Given the description of an element on the screen output the (x, y) to click on. 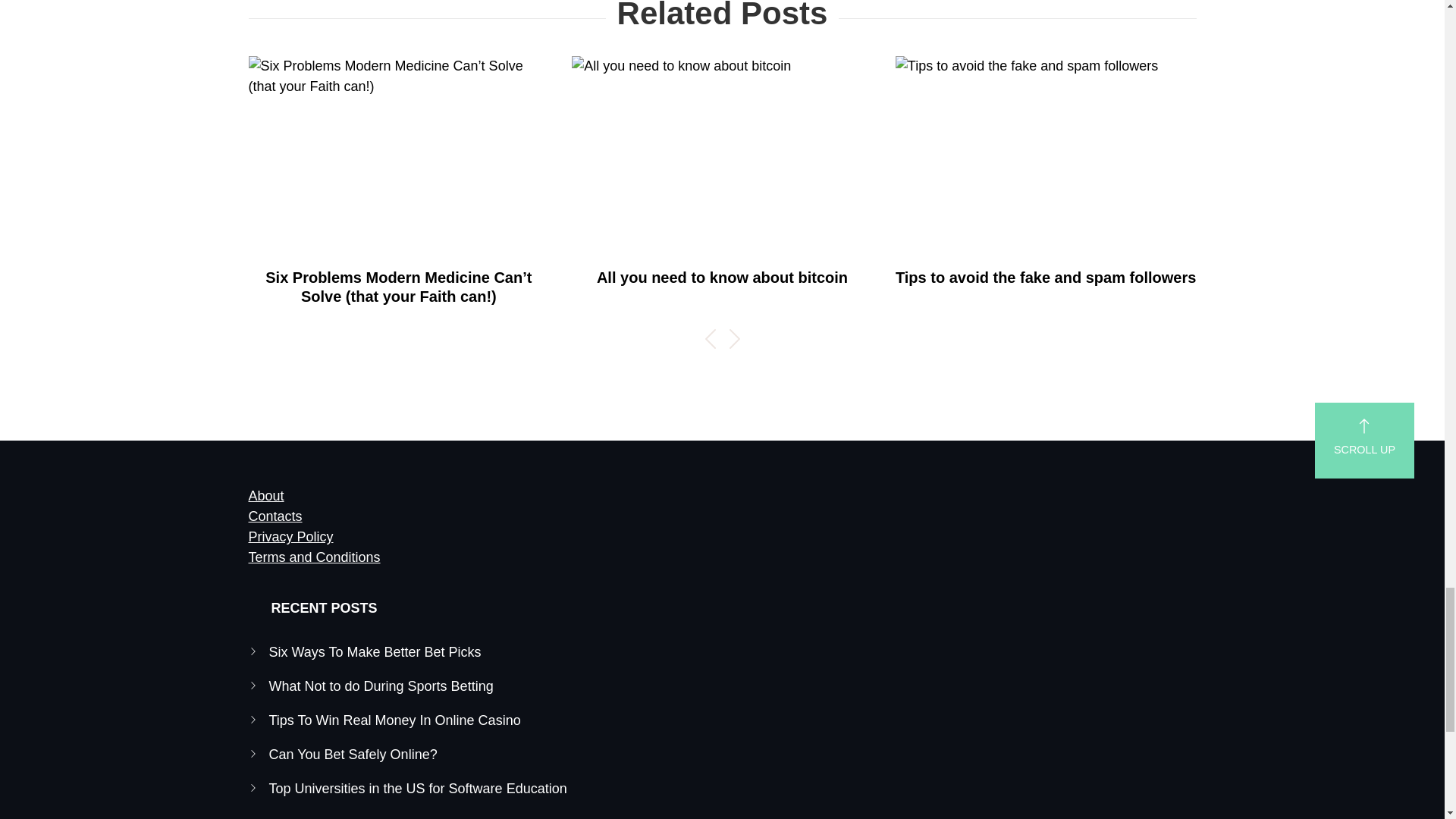
SCROLL UP (1363, 439)
